Given the description of an element on the screen output the (x, y) to click on. 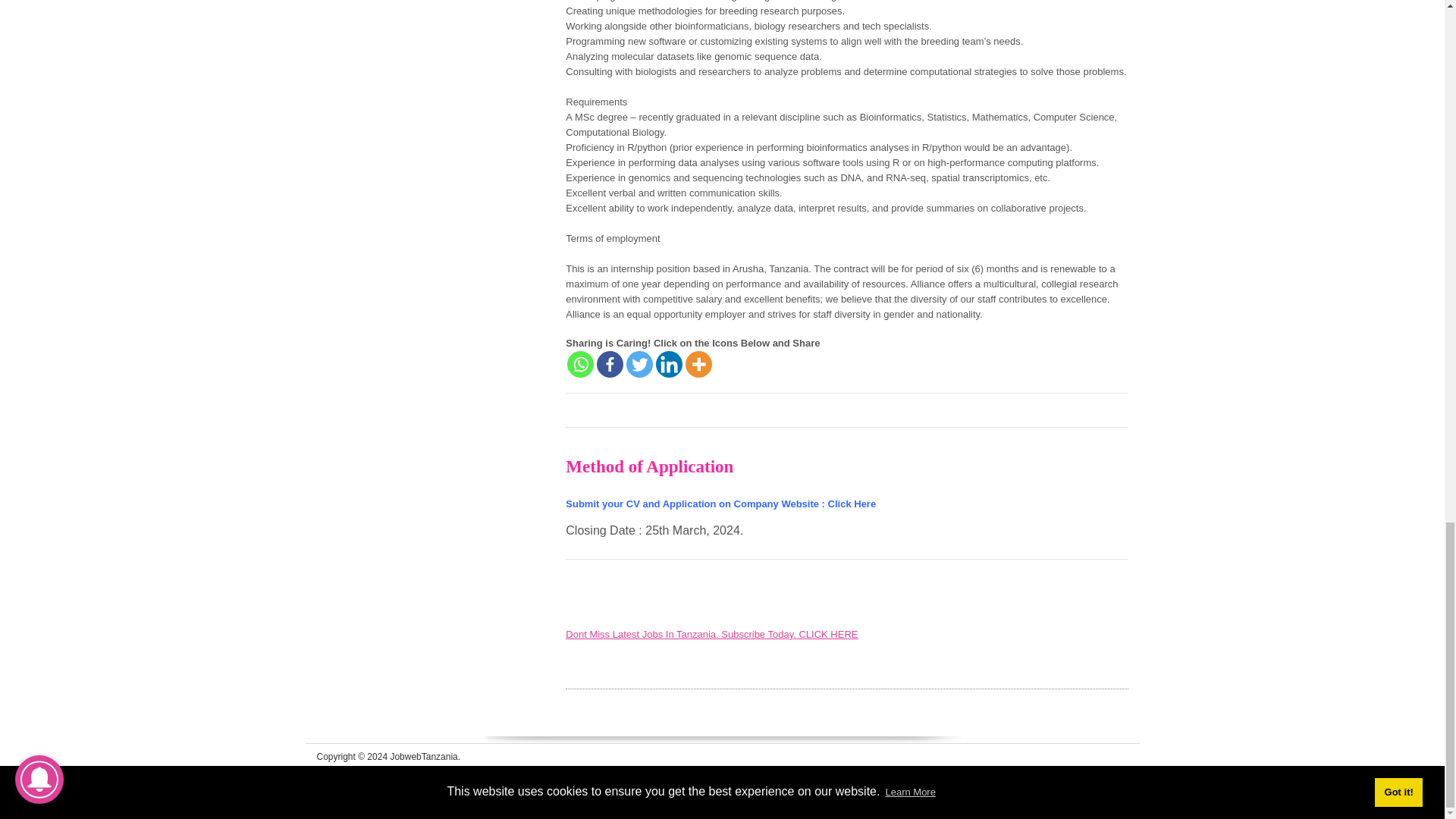
Linkedin (669, 364)
Twitter (639, 364)
Whatsapp (580, 364)
More (698, 364)
Facebook (609, 364)
